Given the description of an element on the screen output the (x, y) to click on. 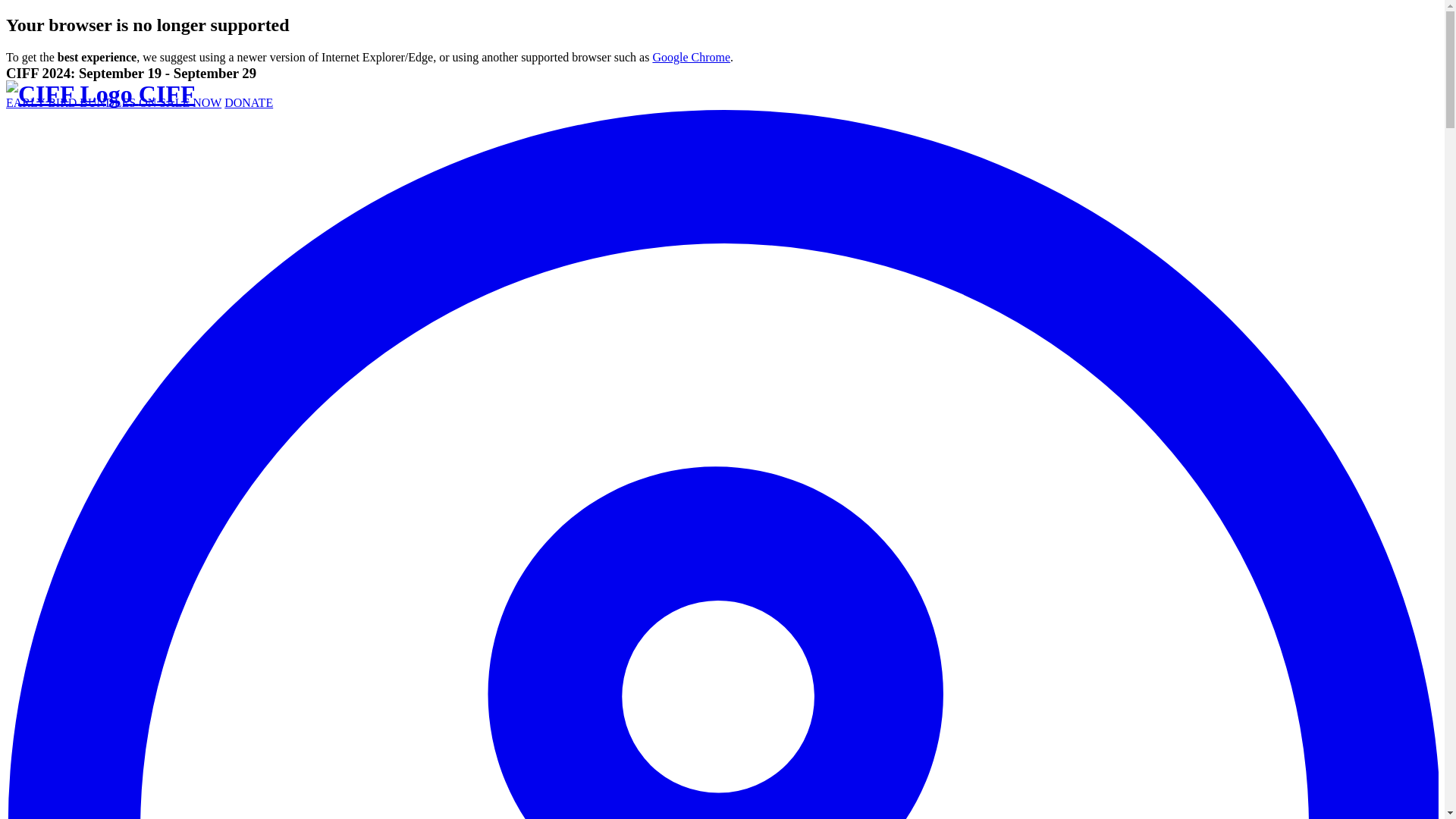
EARLY BIRD BUNDLES ON SALE NOW (113, 102)
Google Chrome (691, 56)
DONATE (248, 102)
CIFF (100, 93)
CIFF - Calgary International Film Festival (100, 93)
